Given the description of an element on the screen output the (x, y) to click on. 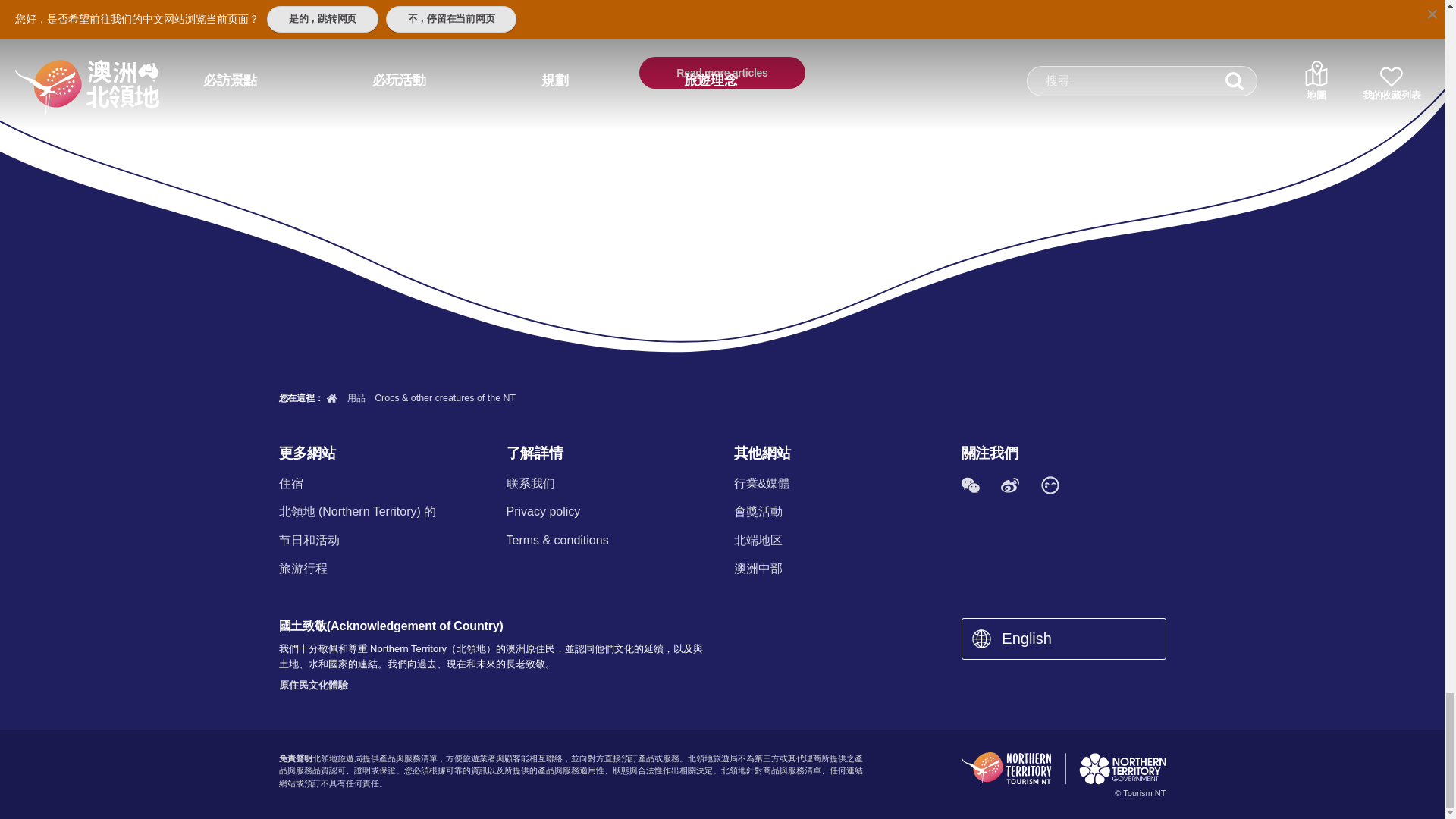
wechat (970, 484)
